Given the description of an element on the screen output the (x, y) to click on. 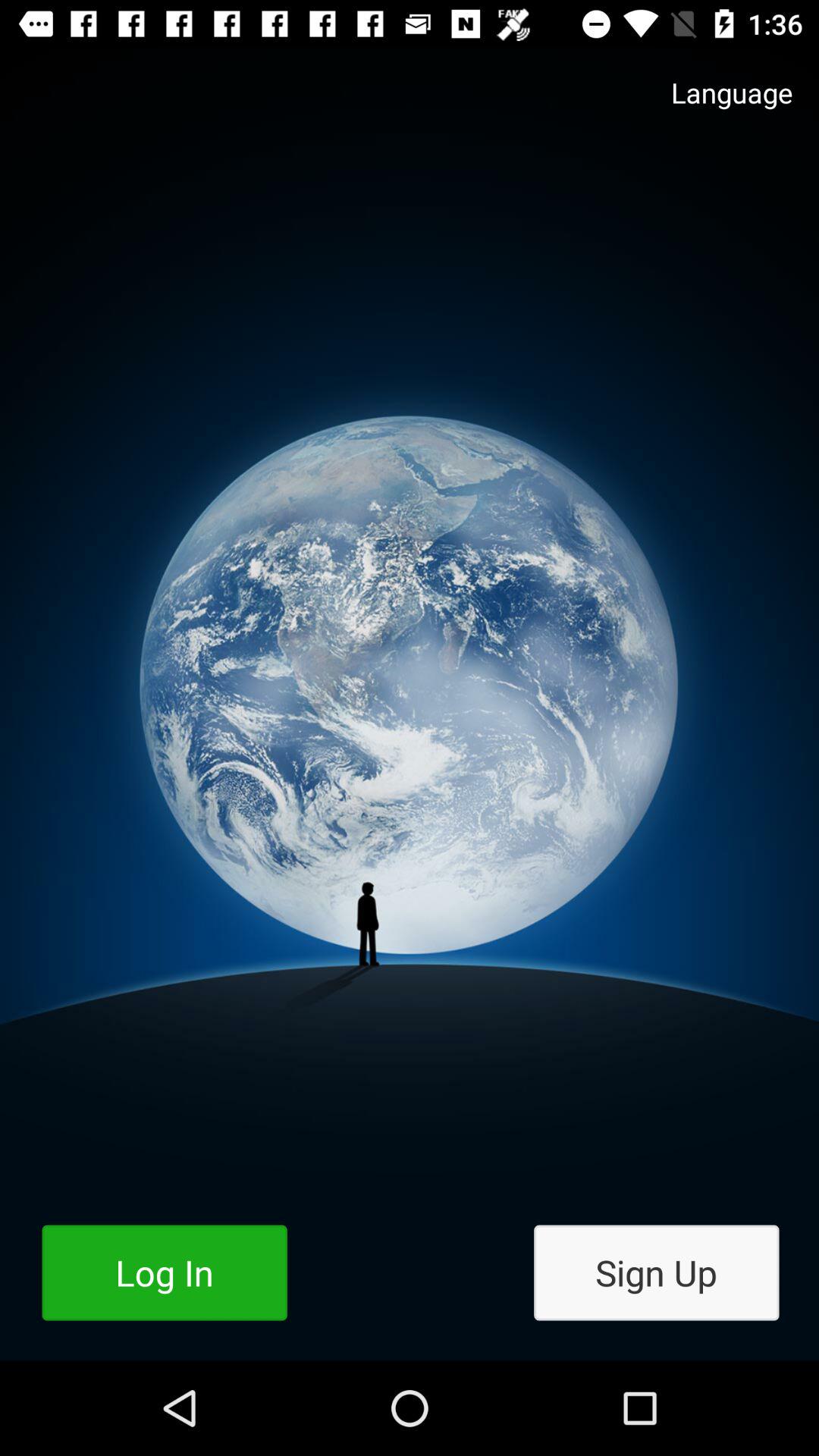
click item above sign up icon (716, 107)
